Given the description of an element on the screen output the (x, y) to click on. 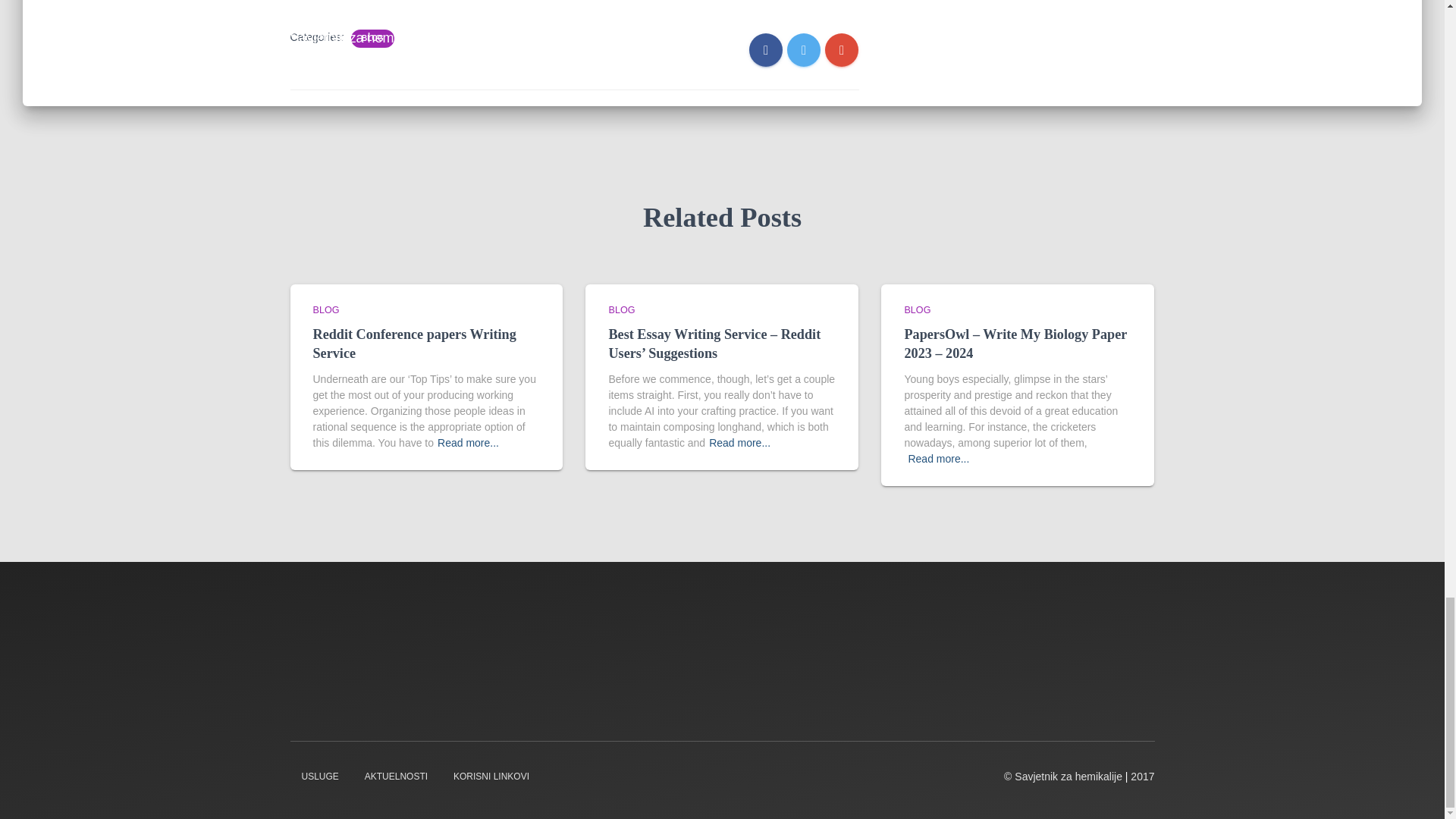
AKTUELNOSTI (396, 776)
BLOG (372, 38)
Read more... (739, 442)
KORISNI LINKOVI (491, 776)
Reddit Conference papers Writing Service (414, 343)
BLOG (621, 309)
Read more... (468, 442)
View all posts in blog (326, 309)
View all posts in blog (621, 309)
USLUGE (319, 776)
